Given the description of an element on the screen output the (x, y) to click on. 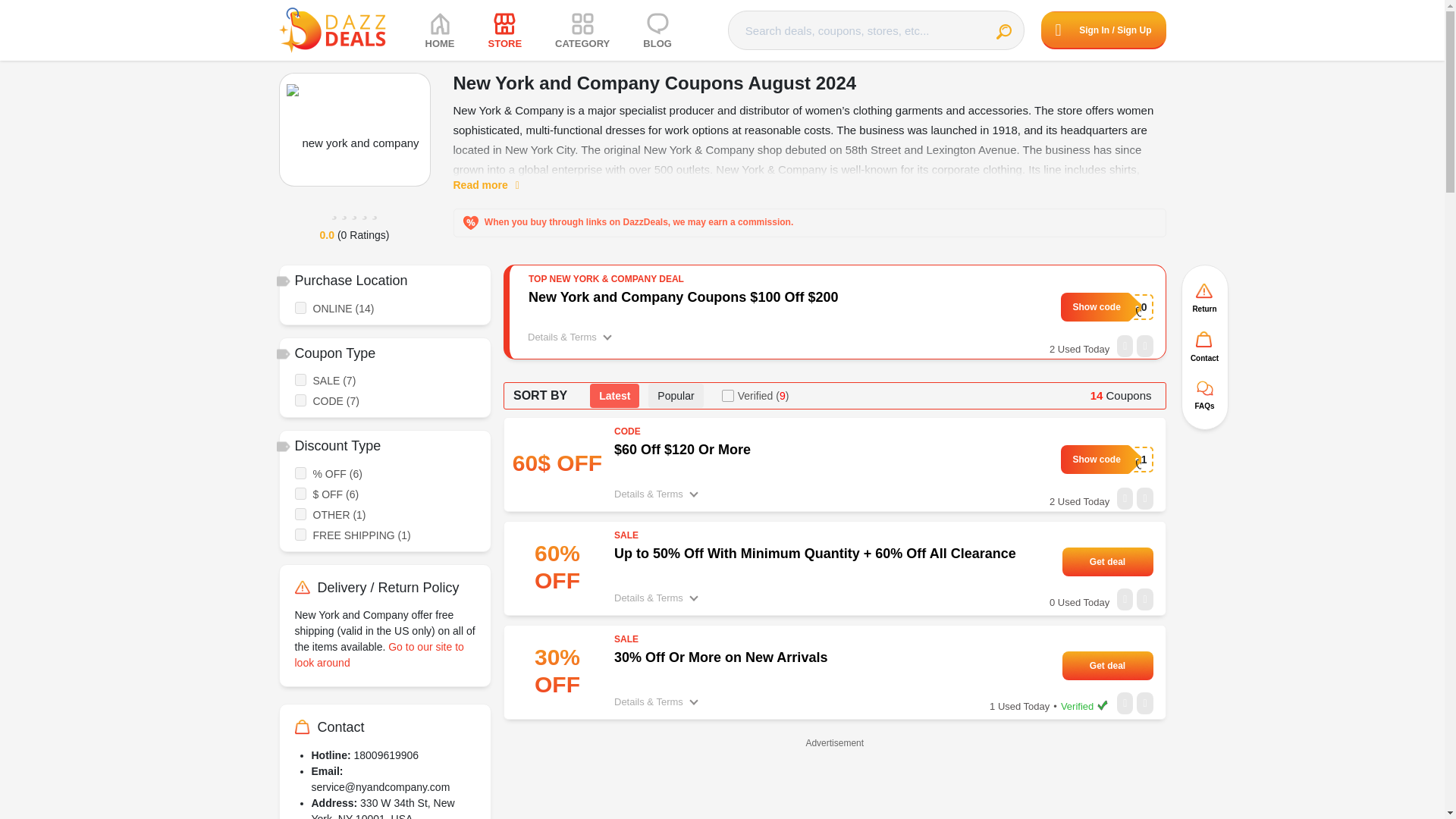
STORE (504, 29)
CATEGORY (582, 29)
STORE (504, 29)
Go to our site to look around (378, 654)
Read more (493, 185)
T100 (1107, 307)
CATEGORY (582, 29)
